Given the description of an element on the screen output the (x, y) to click on. 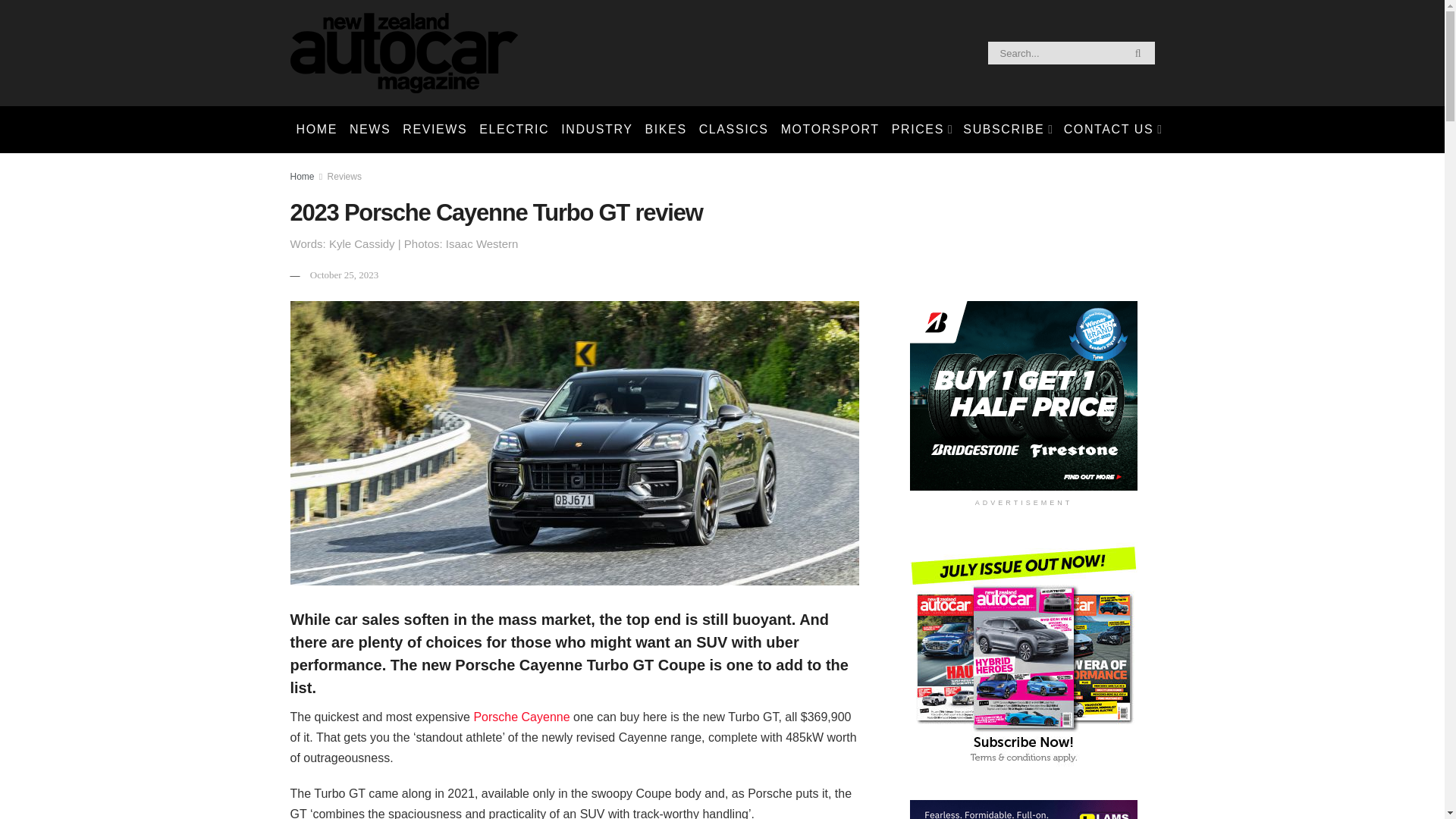
NEWS (369, 128)
CLASSICS (733, 128)
HOME (315, 128)
INDUSTRY (596, 128)
MOTORSPORT (829, 128)
ELECTRIC (513, 128)
PRICES (921, 128)
REVIEWS (434, 128)
BIKES (666, 128)
